Given the description of an element on the screen output the (x, y) to click on. 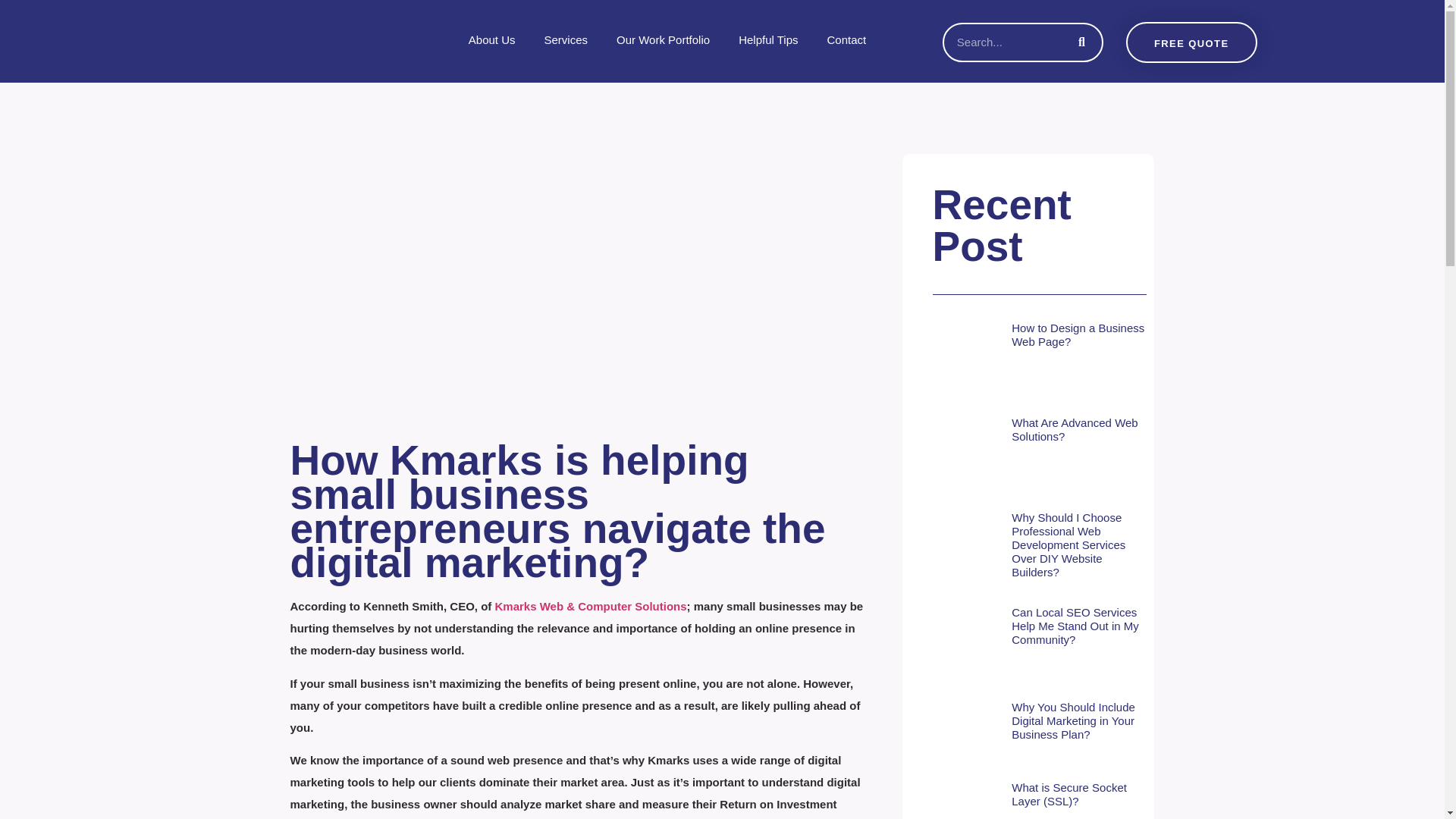
FREE QUOTE (1191, 41)
Services (565, 40)
Contact (845, 40)
Helpful Tips (767, 40)
Our Work Portfolio (663, 40)
About Us (492, 40)
